Given the description of an element on the screen output the (x, y) to click on. 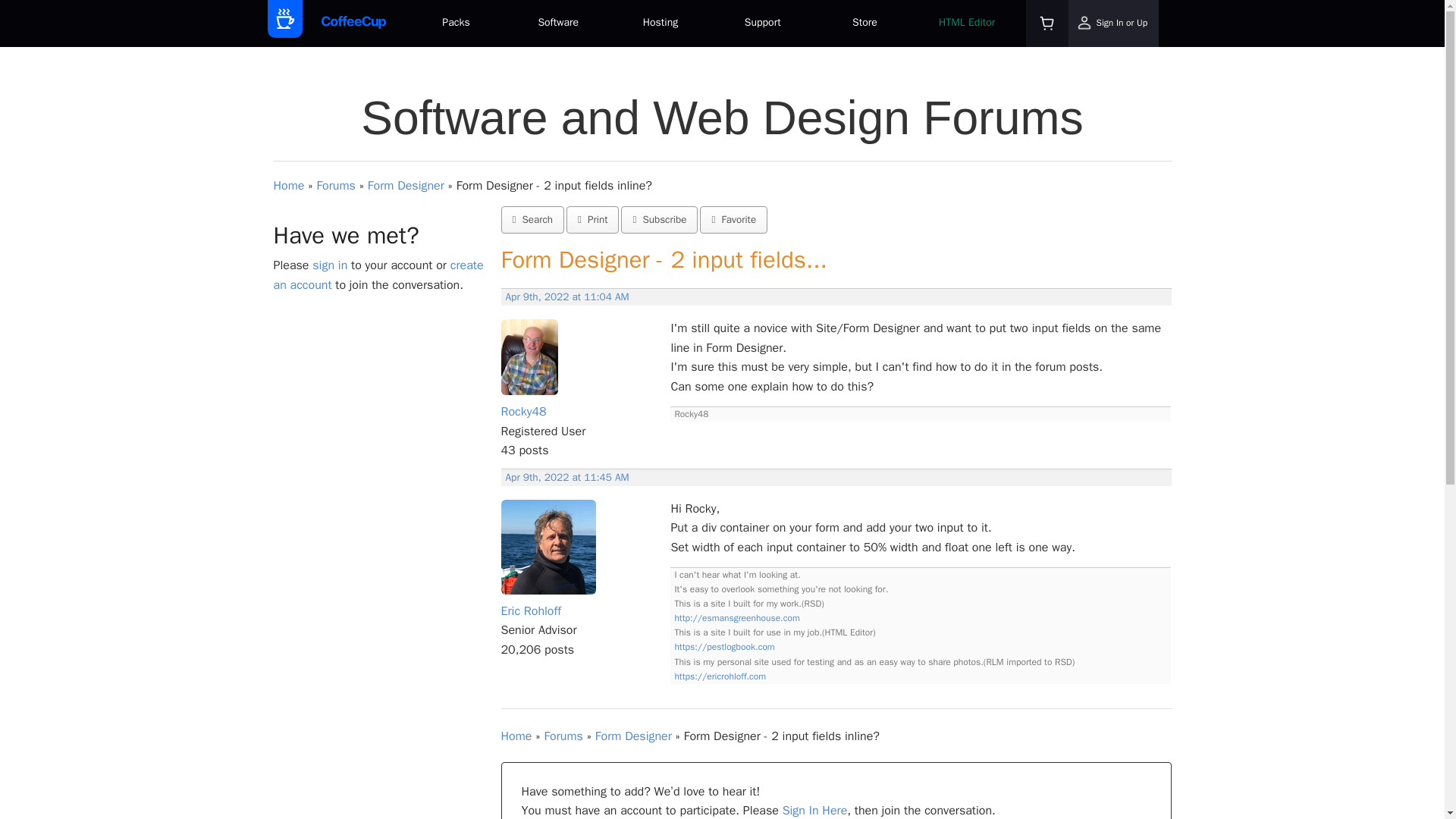
Software (558, 23)
Hosting (660, 23)
Everything you need for success on the web. (455, 23)
CoffeeCup Home (353, 23)
Support (762, 23)
Store (864, 23)
Packs (455, 23)
Web design can be surprisingly simple. (558, 23)
